Given the description of an element on the screen output the (x, y) to click on. 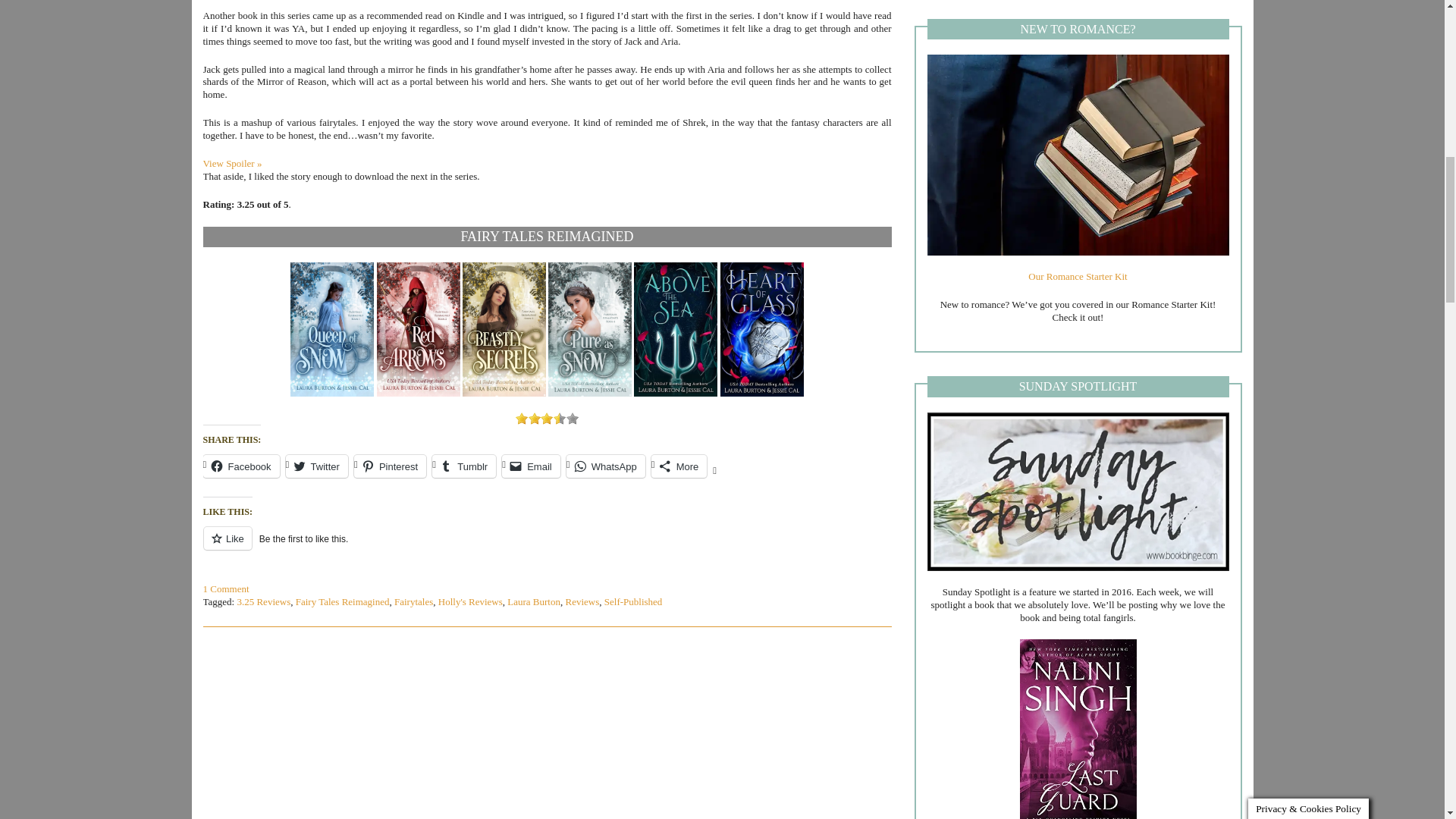
Click to share on Pinterest (389, 466)
Click to share on Facebook (241, 466)
Like or Reblog (547, 547)
Click to share on Twitter (316, 466)
Click to share on WhatsApp (605, 466)
Click to email a link to a friend (531, 466)
Click to share on Tumblr (464, 466)
